Given the description of an element on the screen output the (x, y) to click on. 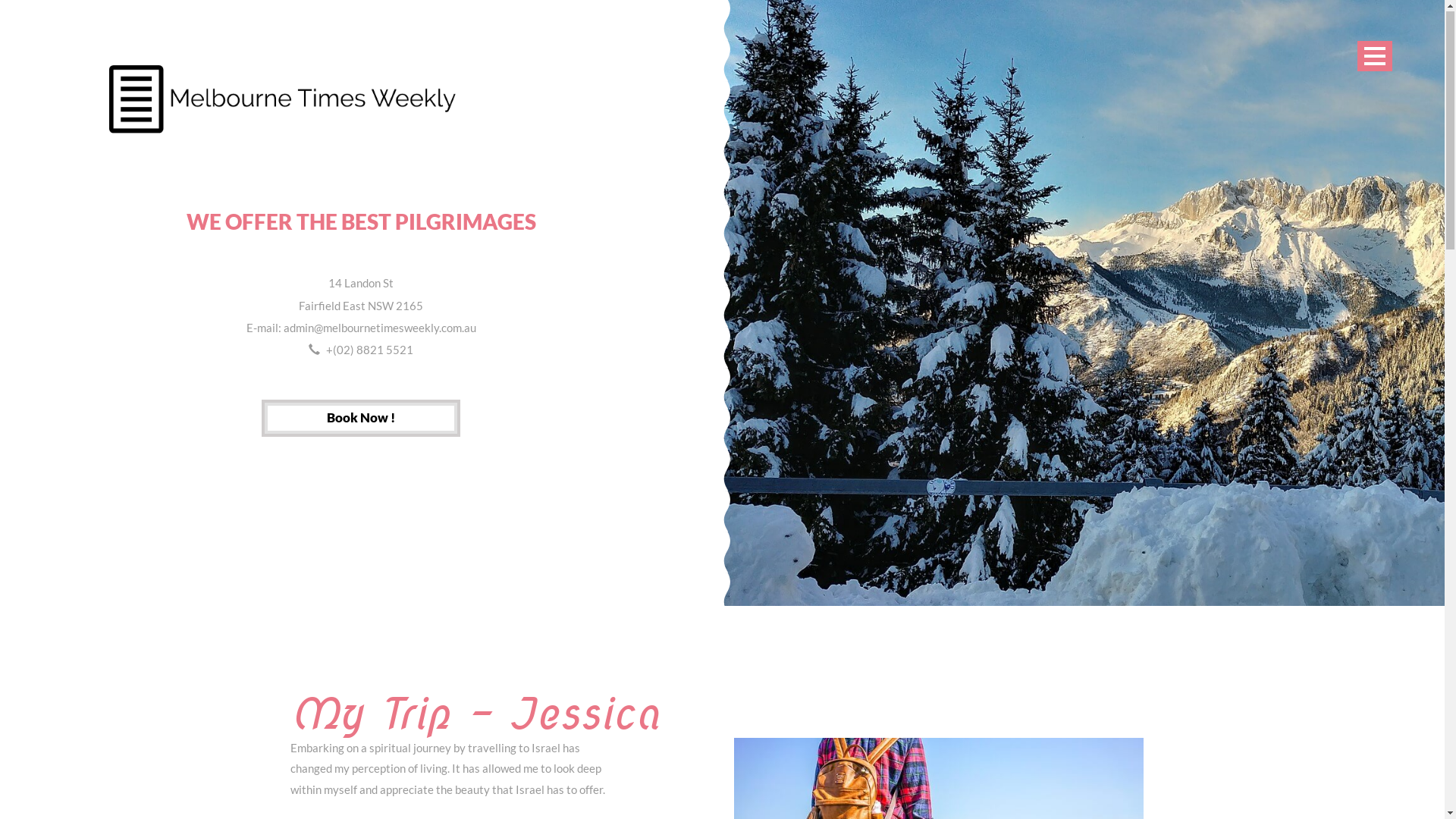
Book Now ! Element type: text (360, 418)
